Given the description of an element on the screen output the (x, y) to click on. 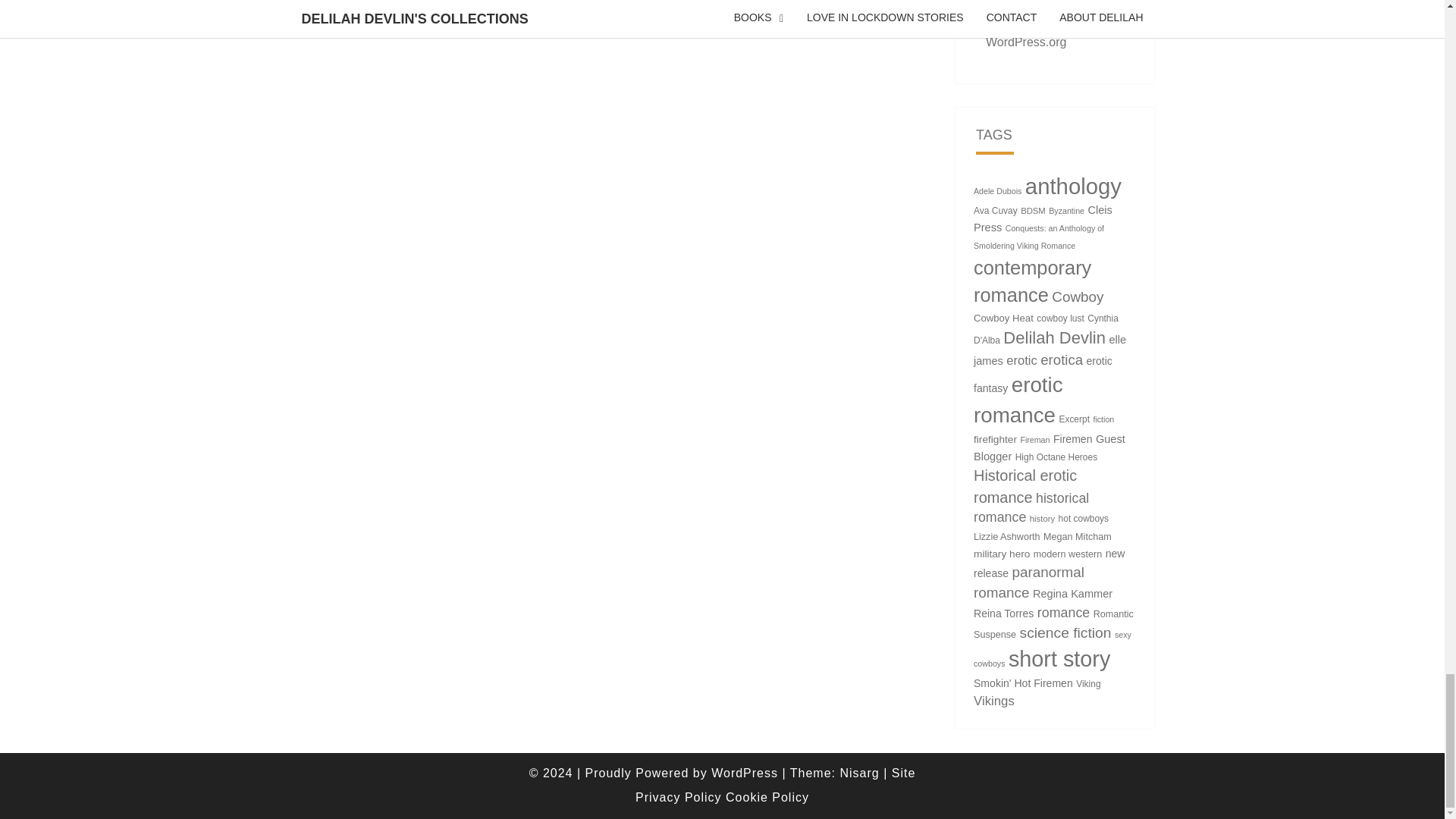
Privacy Policy (678, 797)
Cookie Policy (767, 797)
